Given the description of an element on the screen output the (x, y) to click on. 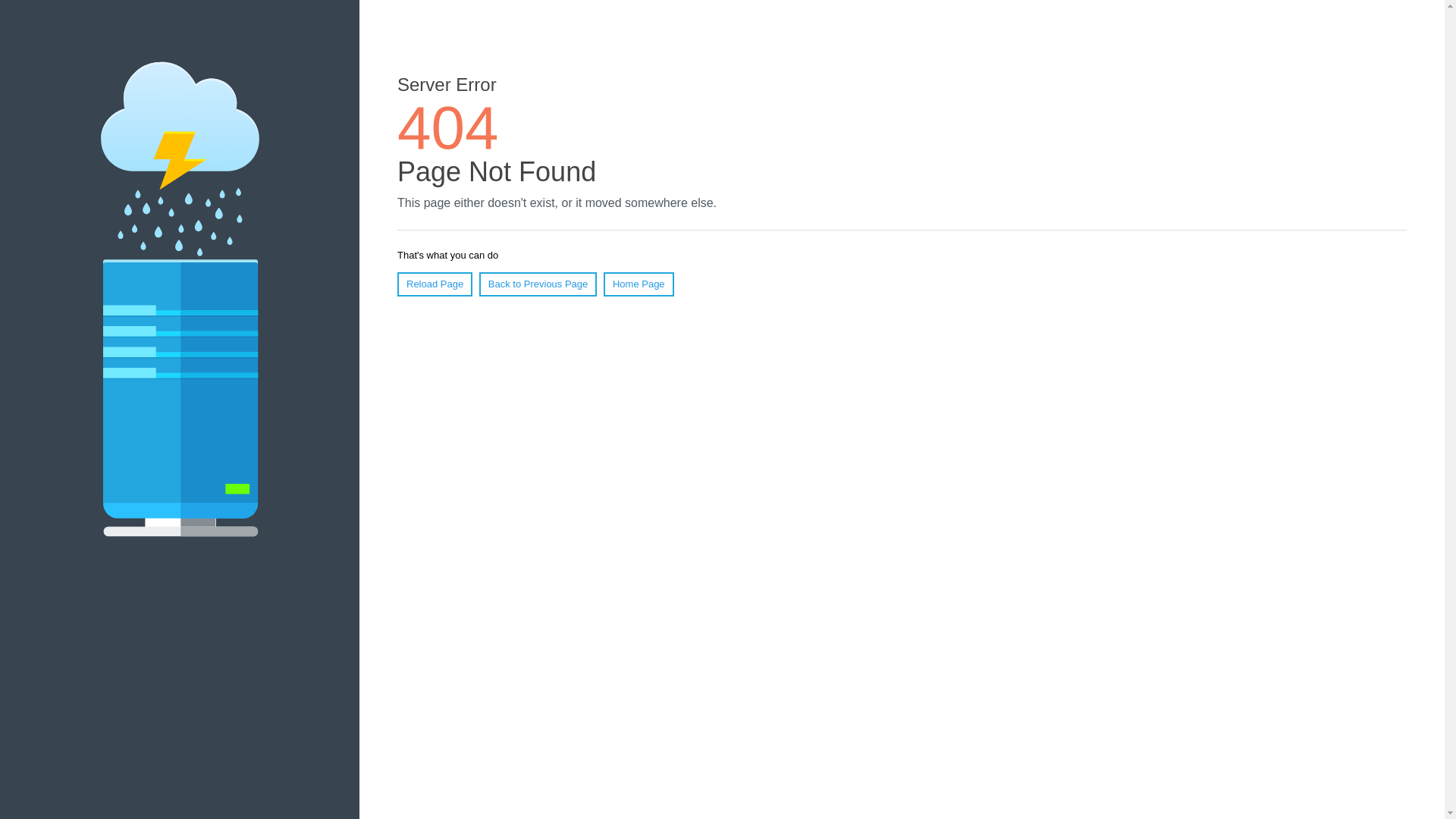
Back to Previous Page Element type: text (538, 284)
Reload Page Element type: text (434, 284)
Home Page Element type: text (638, 284)
